Given the description of an element on the screen output the (x, y) to click on. 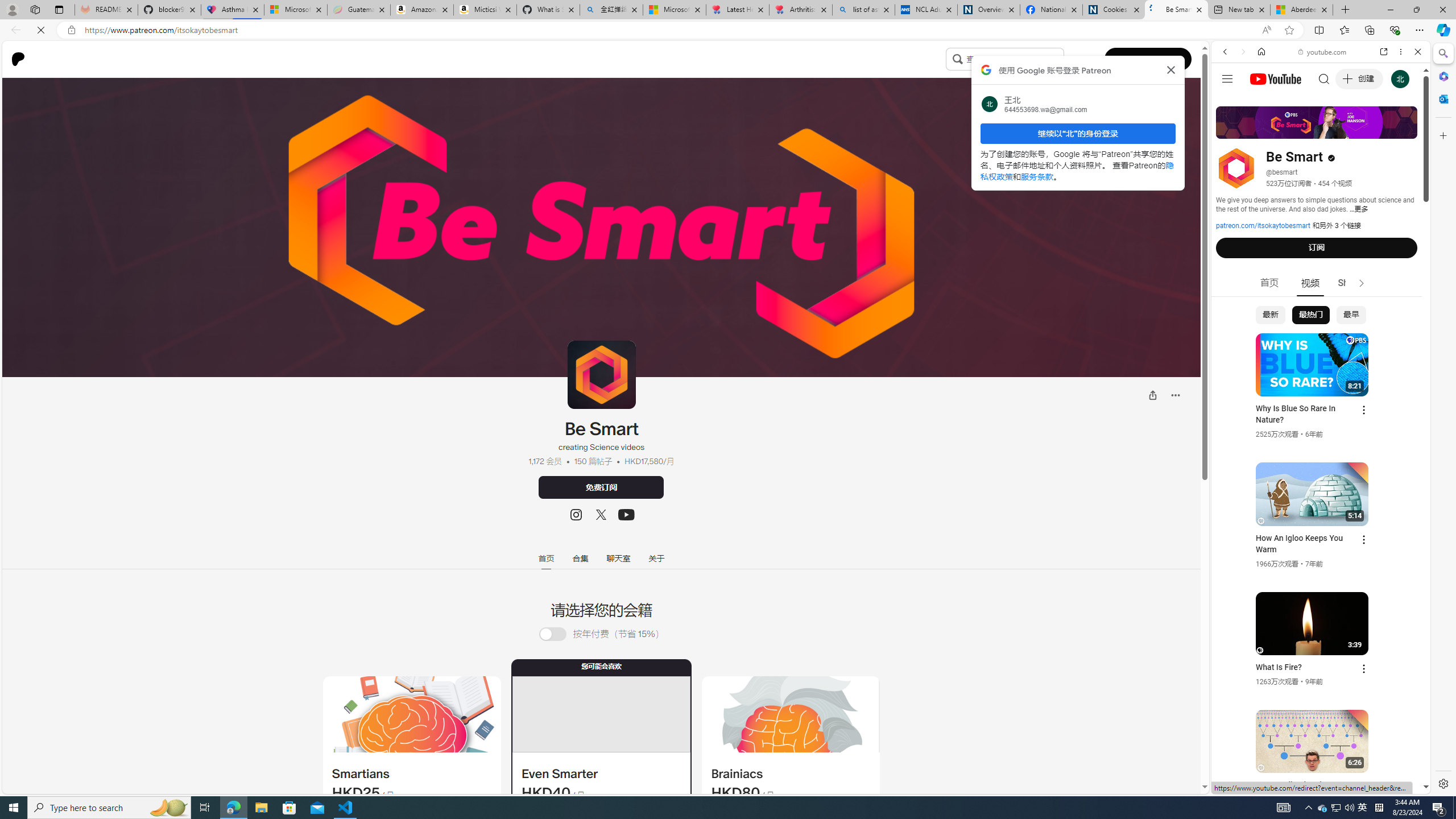
Class: sc-jrQzAO inFiZu (956, 58)
Show More Music (1390, 310)
Be Smart | creating Science videos | Patreon (1176, 9)
